Given the description of an element on the screen output the (x, y) to click on. 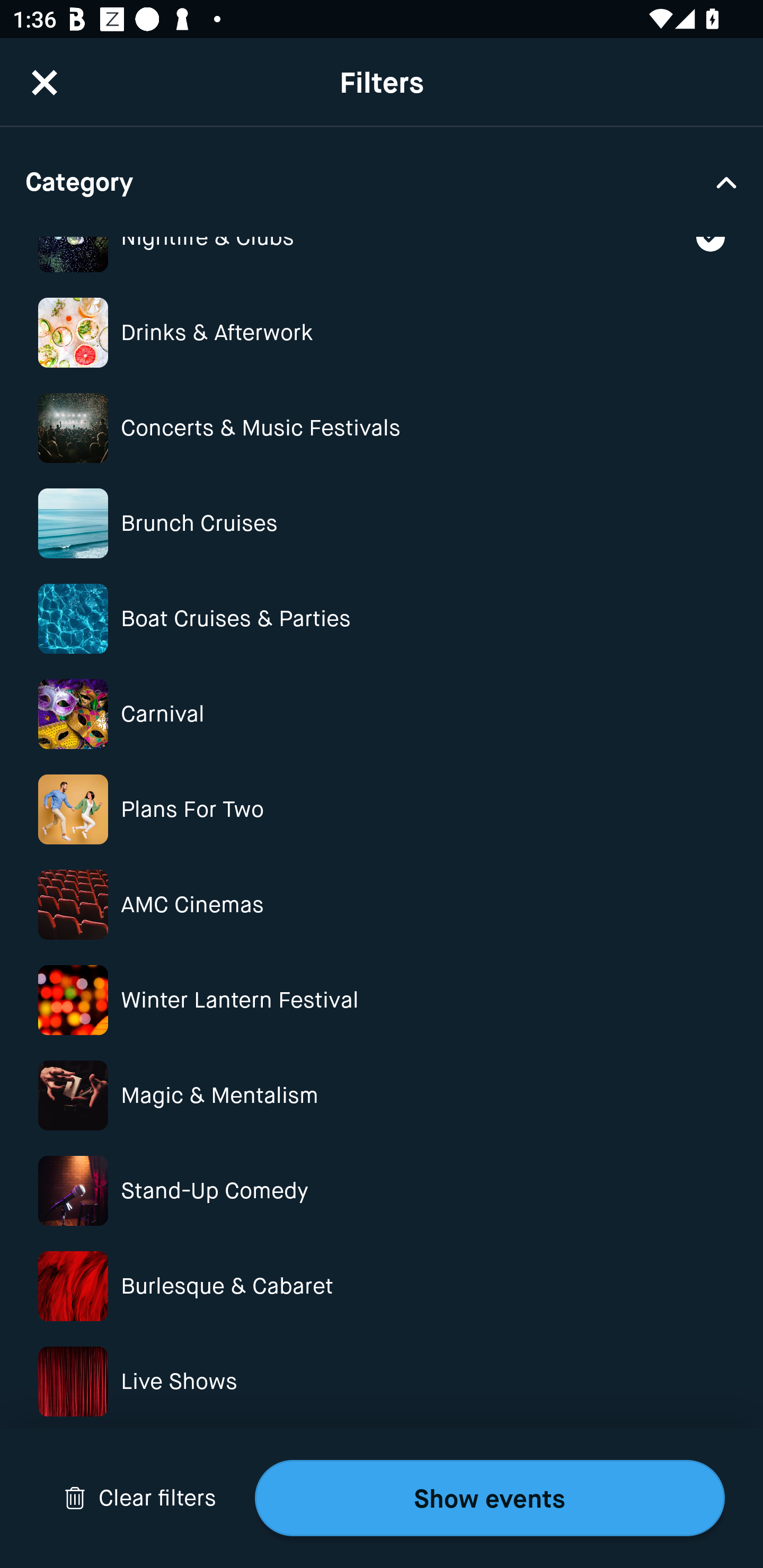
CloseButton (44, 70)
Category Drop Down Arrow (381, 181)
Category Image Drinks & Afterwork (381, 332)
Category Image Concerts & Music Festivals (381, 427)
Category Image Brunch Cruises (381, 522)
Category Image Boat Cruises & Parties (381, 618)
Category Image Carnival (381, 713)
Category Image Plans For Two (381, 809)
Category Image AMC Cinemas (381, 904)
Category Image Winter Lantern Festival (381, 1000)
Category Image Magic & Mentalism (381, 1094)
Category Image Stand-Up Comedy (381, 1190)
Category Image Burlesque & Cabaret (381, 1286)
Category Image Live Shows (381, 1381)
Drop Down Arrow Clear filters (139, 1497)
Show events (489, 1497)
